Given the description of an element on the screen output the (x, y) to click on. 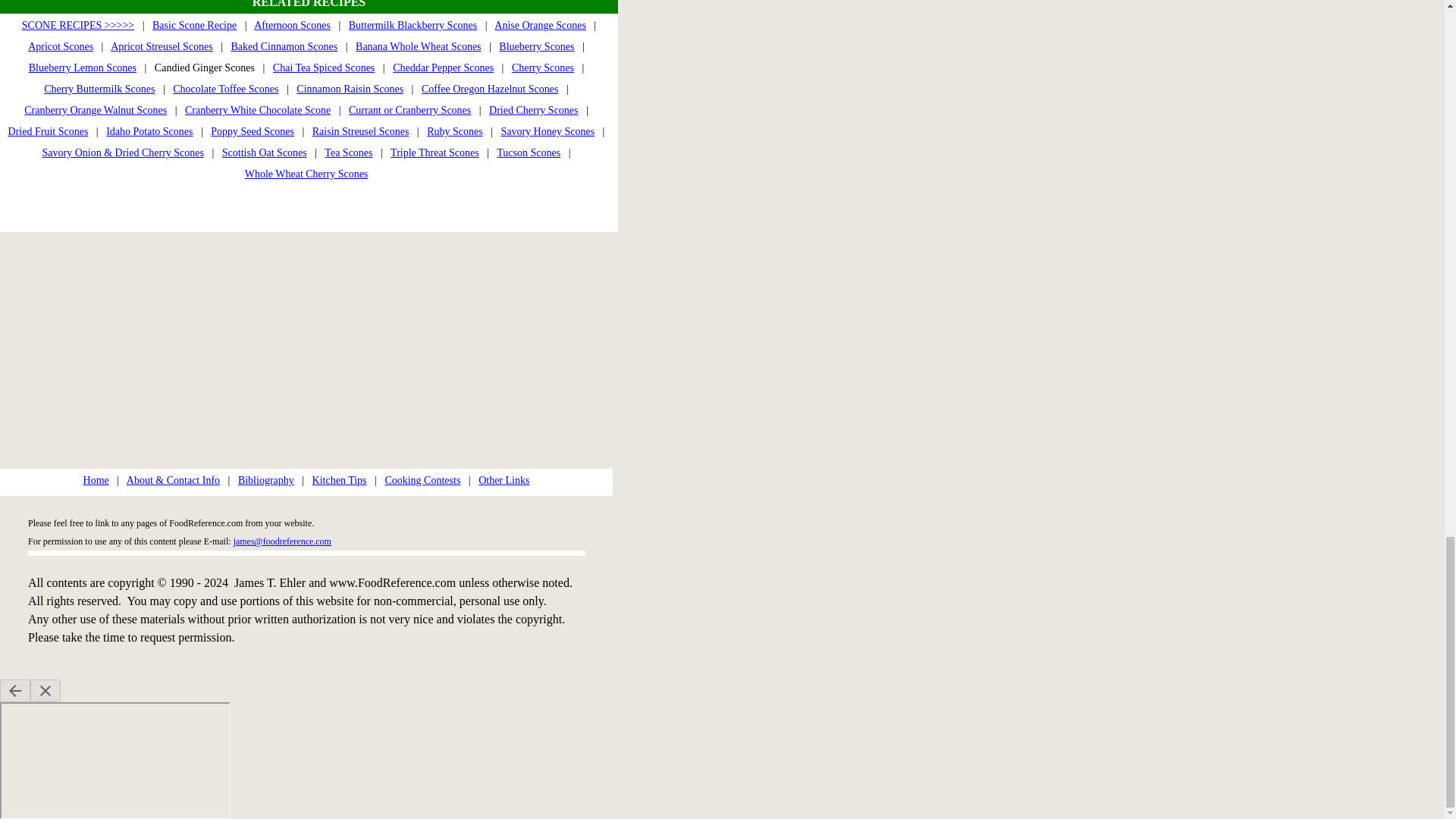
Apricot Streusel Scones (161, 46)
Coffee Oregon Hazelnut Scones (490, 89)
Cinnamon Raisin Scones (350, 89)
Cherry Buttermilk Scones (98, 89)
Baked Cinnamon Scones (283, 46)
Blueberry Scones (536, 46)
Chai Tea Spiced Scones (323, 67)
Basic Scone Recipe (193, 25)
Afternoon Scones (291, 25)
Cheddar Pepper Scones (443, 67)
